Given the description of an element on the screen output the (x, y) to click on. 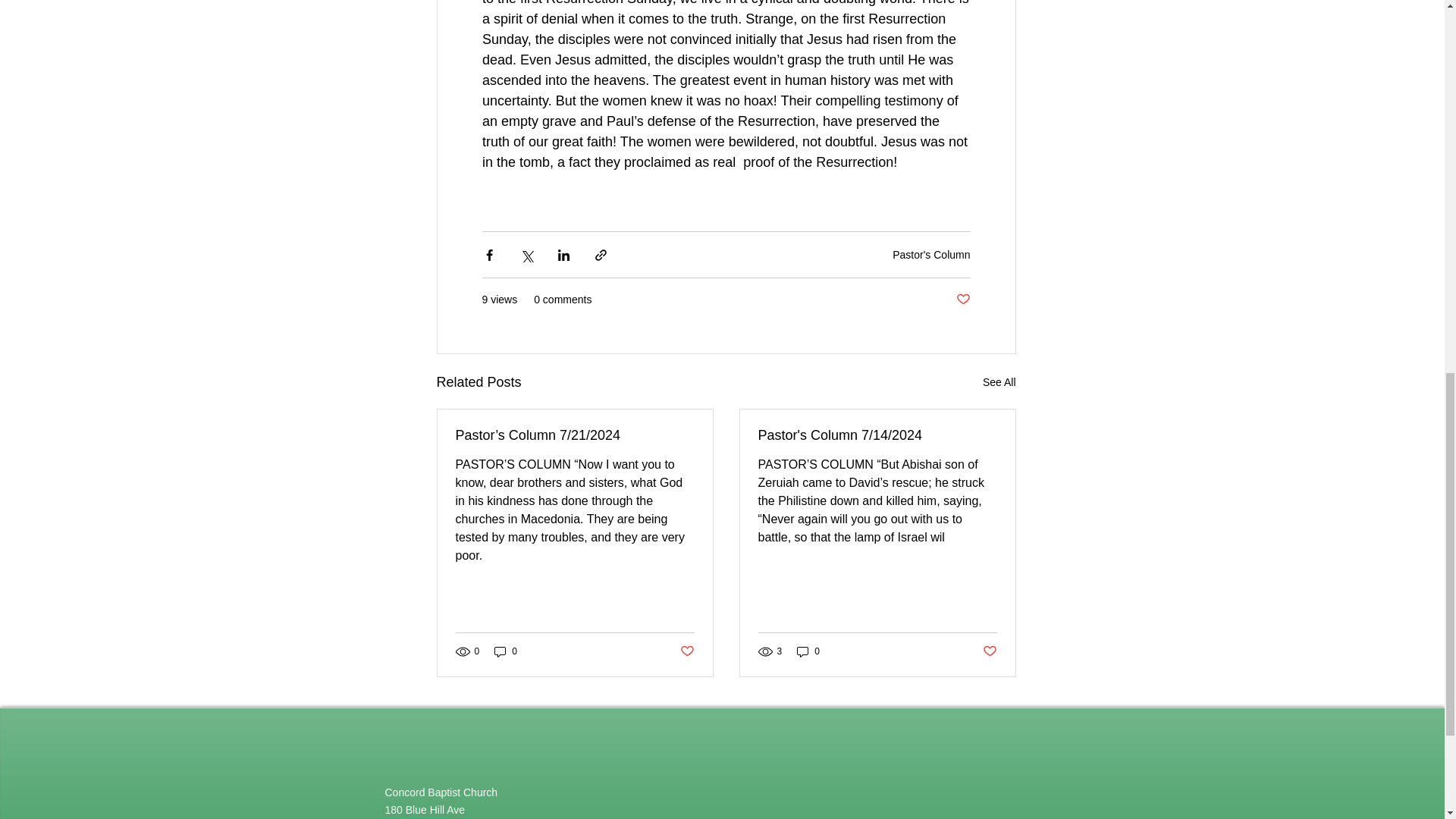
See All (999, 382)
0 (505, 651)
Post not marked as liked (686, 651)
Post not marked as liked (962, 299)
Pastor's Column (930, 254)
